Given the description of an element on the screen output the (x, y) to click on. 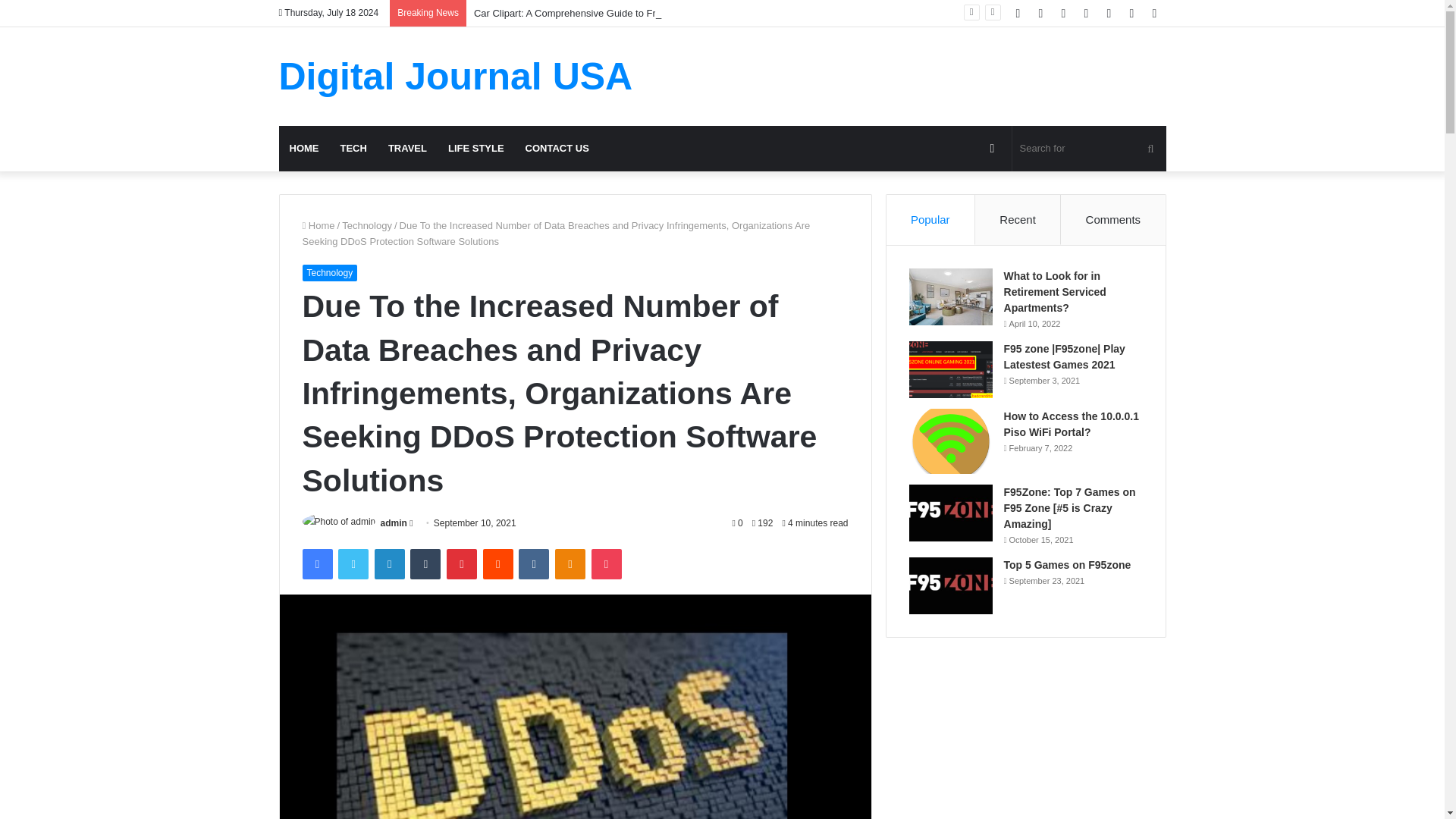
Pocket (606, 563)
Facebook (316, 563)
Facebook (316, 563)
Twitter (352, 563)
Tumblr (425, 563)
Pinterest (461, 563)
admin (393, 522)
Home (317, 225)
Reddit (498, 563)
Technology (366, 225)
Odnoklassniki (569, 563)
TECH (353, 148)
LinkedIn (389, 563)
Digital Journal USA (456, 76)
Technology (328, 272)
